Given the description of an element on the screen output the (x, y) to click on. 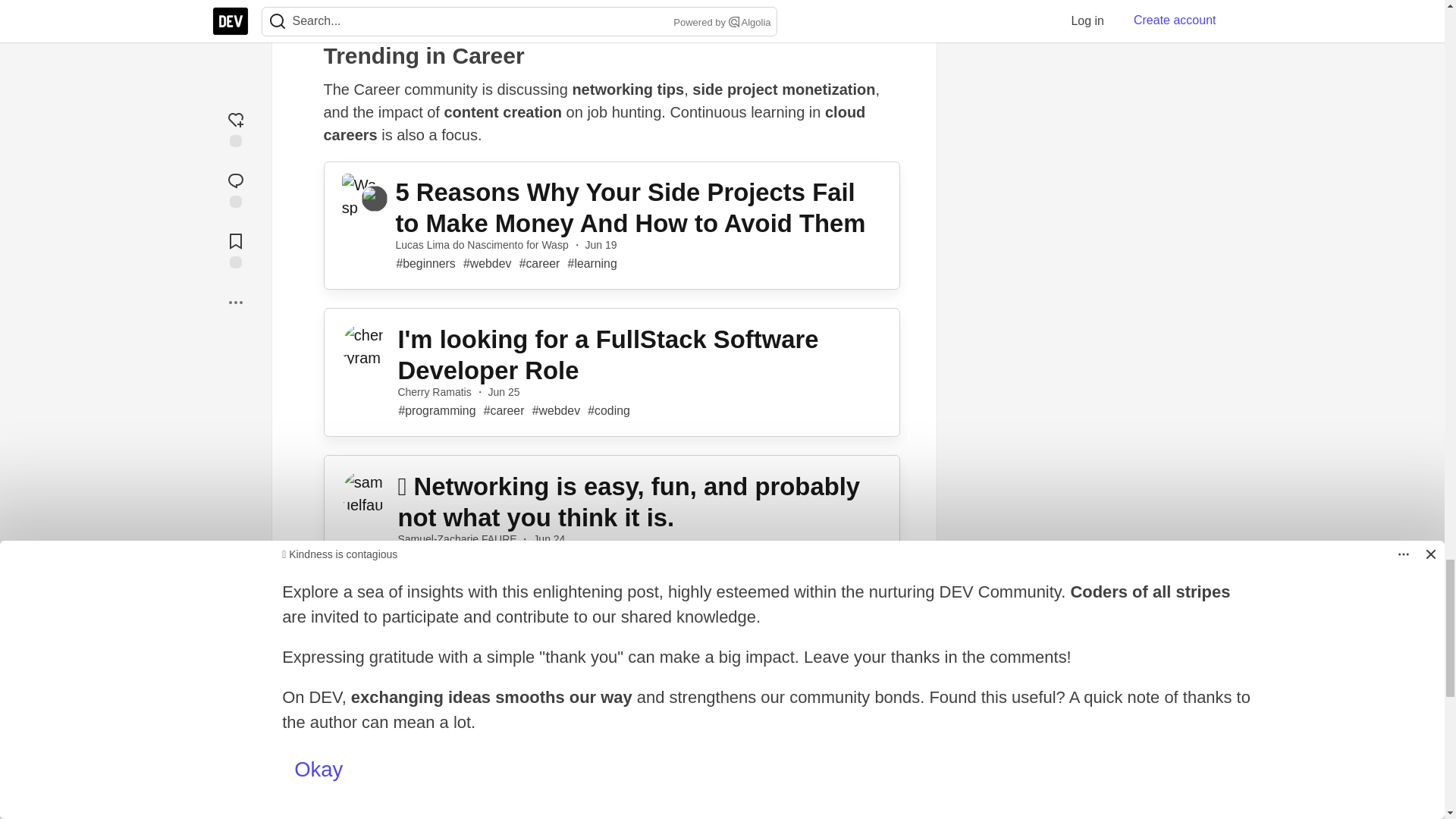
Dropdown menu (922, 18)
